Given the description of an element on the screen output the (x, y) to click on. 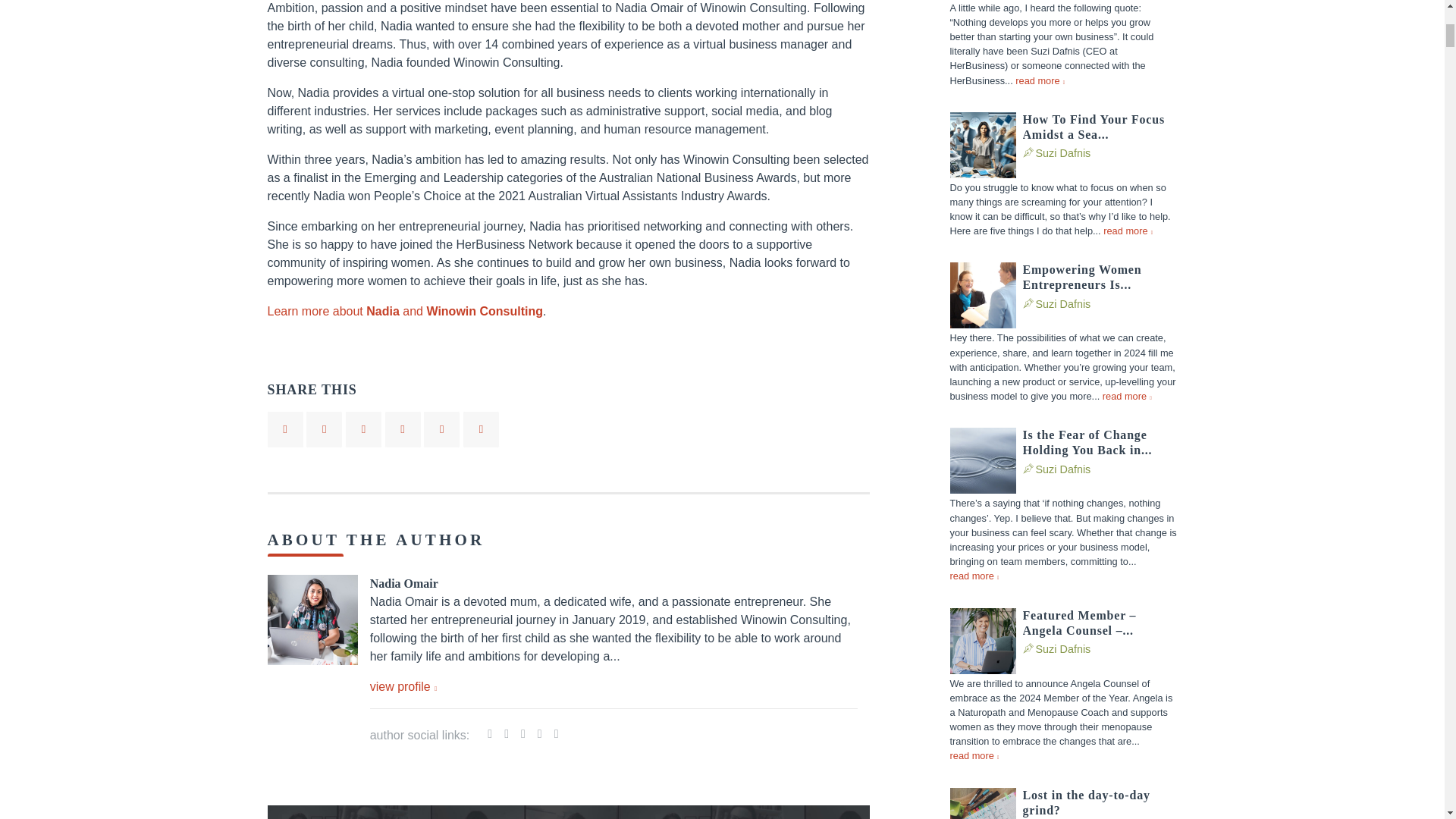
How To Find Your Focus Amidst a Sea... (1099, 127)
Nadia Omair (403, 687)
view profile (403, 687)
read more (1128, 230)
Nadia Omair (403, 583)
Suzi Dafnis (1062, 304)
read more (1039, 80)
Suzi Dafnis (1062, 152)
Nadia Omair (403, 583)
Suzi Dafnis (1062, 648)
Suzi Dafnis (1062, 152)
Learn more about Nadia and Winowin Consulting (404, 310)
Suzi Dafnis (1062, 469)
